Given the description of an element on the screen output the (x, y) to click on. 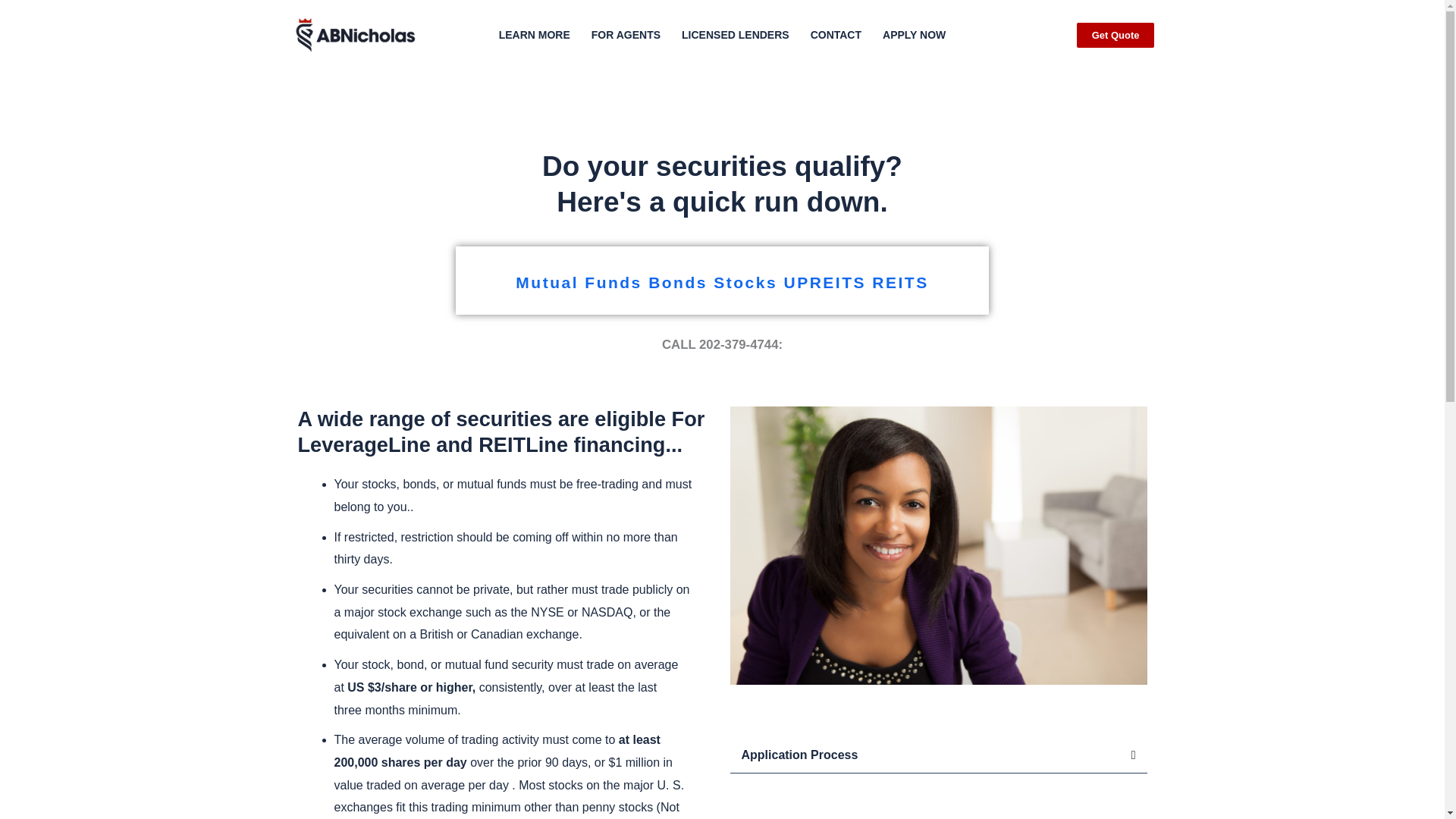
LEARN MORE (534, 34)
APPLY NOW (913, 34)
Get Quote (1115, 34)
LICENSED LENDERS (735, 34)
Application Process (800, 754)
FOR AGENTS (626, 34)
